Given the description of an element on the screen output the (x, y) to click on. 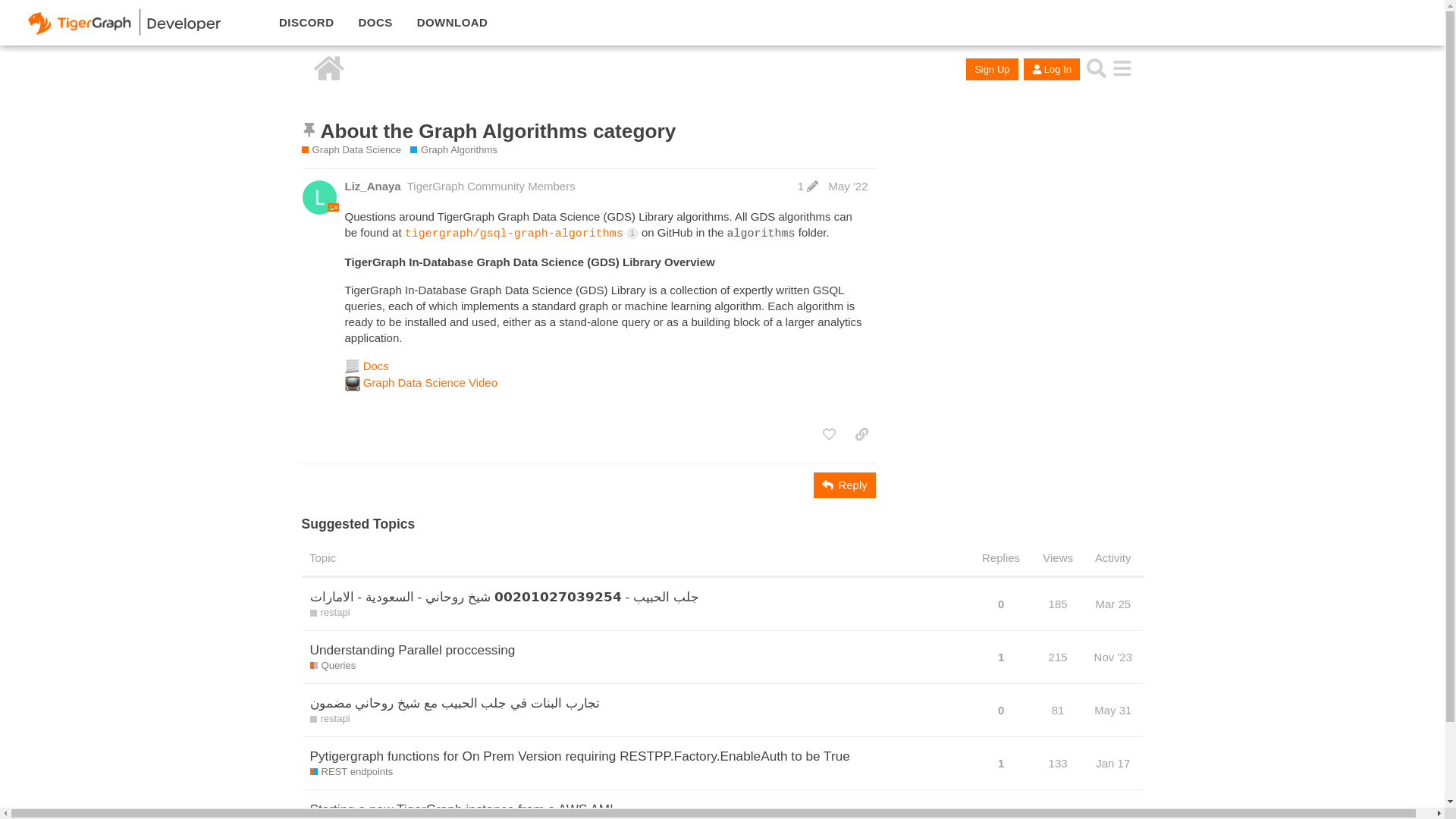
Graph Data Science (351, 150)
post last edited on May 7, 2022 1:58 am (807, 185)
DOWNLOAD (452, 22)
Docs (375, 365)
TigerGraph Community Members (491, 185)
Nov '23 (1112, 656)
This topic has 0 replies (1000, 602)
Mar 25 (1112, 602)
:tv: (351, 383)
May '22 (847, 185)
1 (807, 185)
Log In (1051, 69)
Post date (847, 185)
this topic has been viewed 185 times (1057, 603)
DOCS (375, 22)
